Given the description of an element on the screen output the (x, y) to click on. 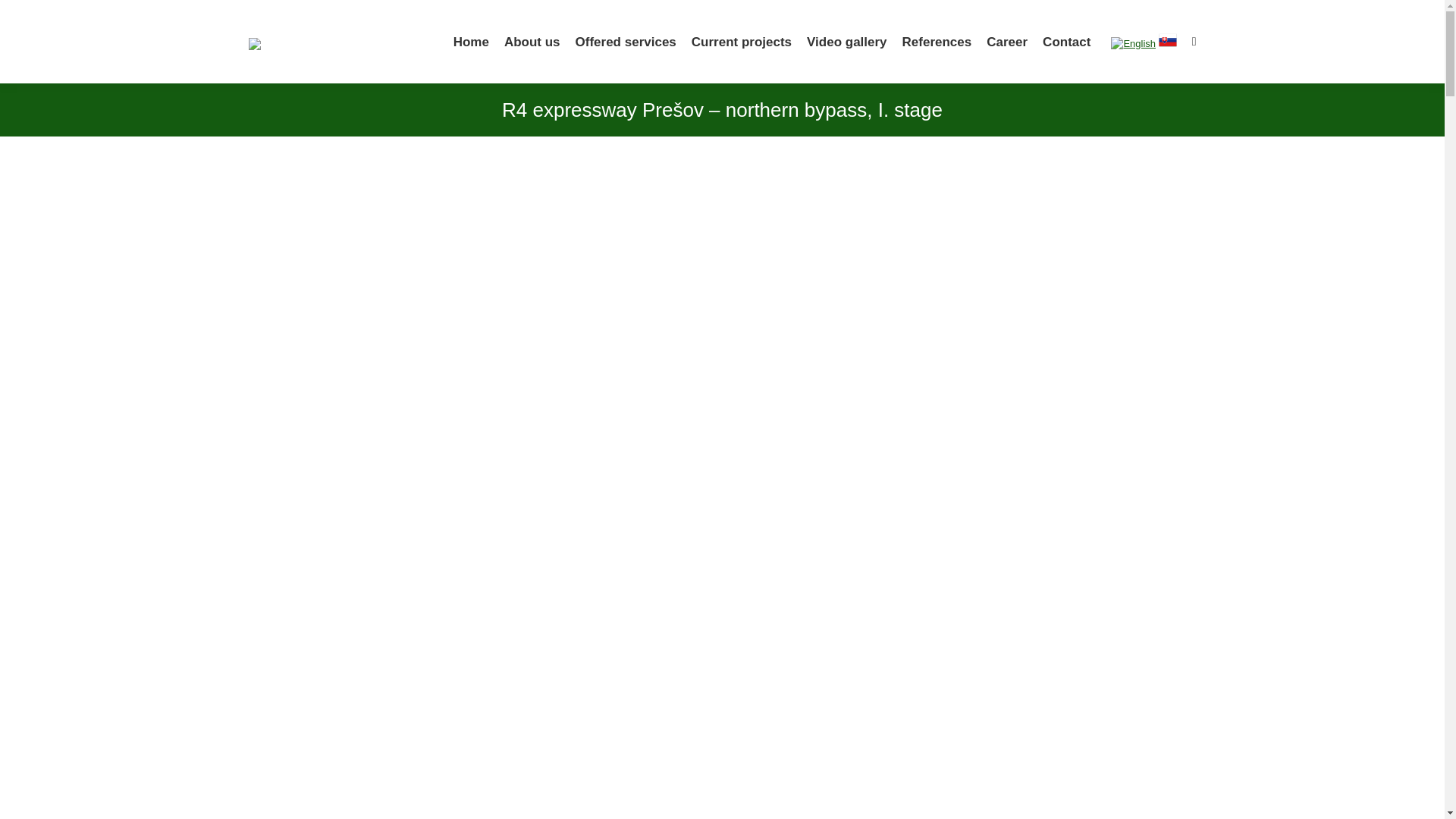
Contact (1066, 41)
Offered services (625, 41)
Current projects (740, 41)
References (936, 41)
Home (471, 41)
Go! (24, 16)
Video gallery (847, 41)
About us (532, 41)
Career (1006, 41)
